Given the description of an element on the screen output the (x, y) to click on. 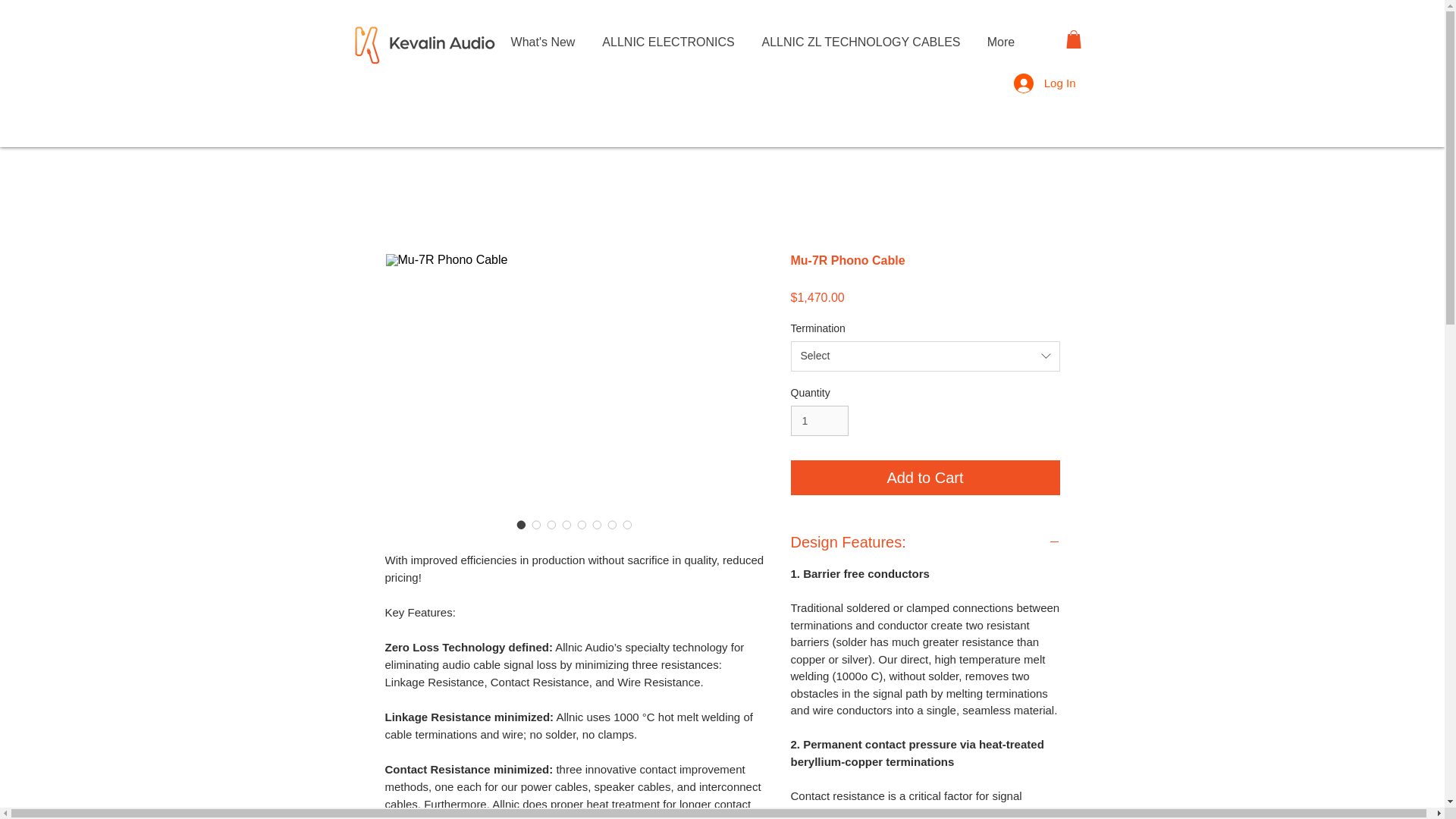
ALLNIC ELECTRONICS (668, 41)
ALLNIC ZL TECHNOLOGY CABLES (861, 41)
1 (818, 420)
What's New (543, 41)
